Given the description of an element on the screen output the (x, y) to click on. 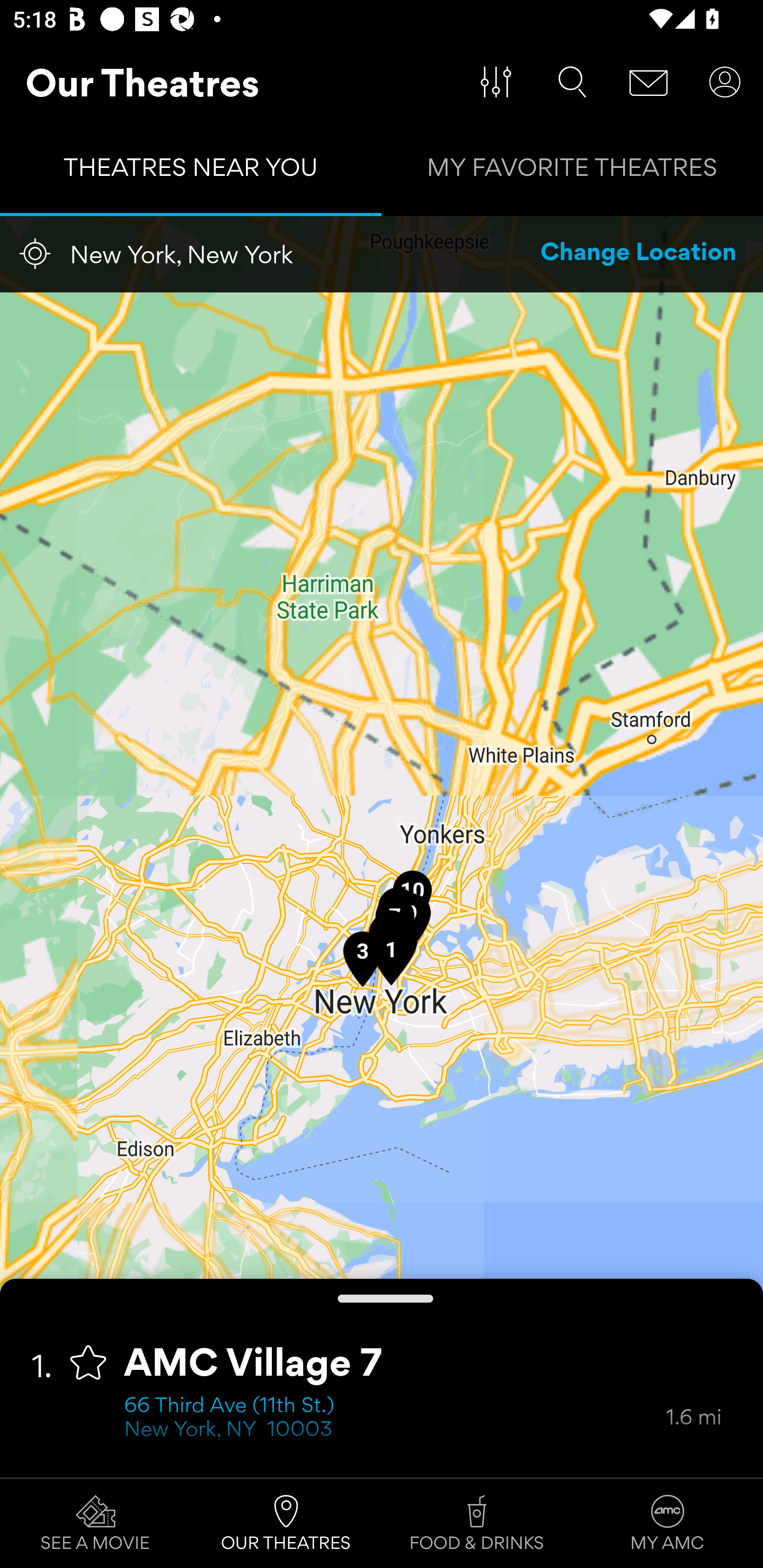
Filter Theatres (495, 82)
Search (572, 82)
Message Center (648, 82)
User Account (724, 82)
THEATRES NEAR YOU
Tab 1 of 2 (190, 171)
MY FAVORITE THEATRES
Tab 2 of 2 (572, 171)
Change Location (639, 253)
66 Third Ave (11th St.)  
New York, NY  10003 (394, 1418)
SEE A MOVIE
Tab 1 of 4 (95, 1523)
OUR THEATRES
Tab 2 of 4 (285, 1523)
FOOD & DRINKS
Tab 3 of 4 (476, 1523)
MY AMC
Tab 4 of 4 (667, 1523)
